Given the description of an element on the screen output the (x, y) to click on. 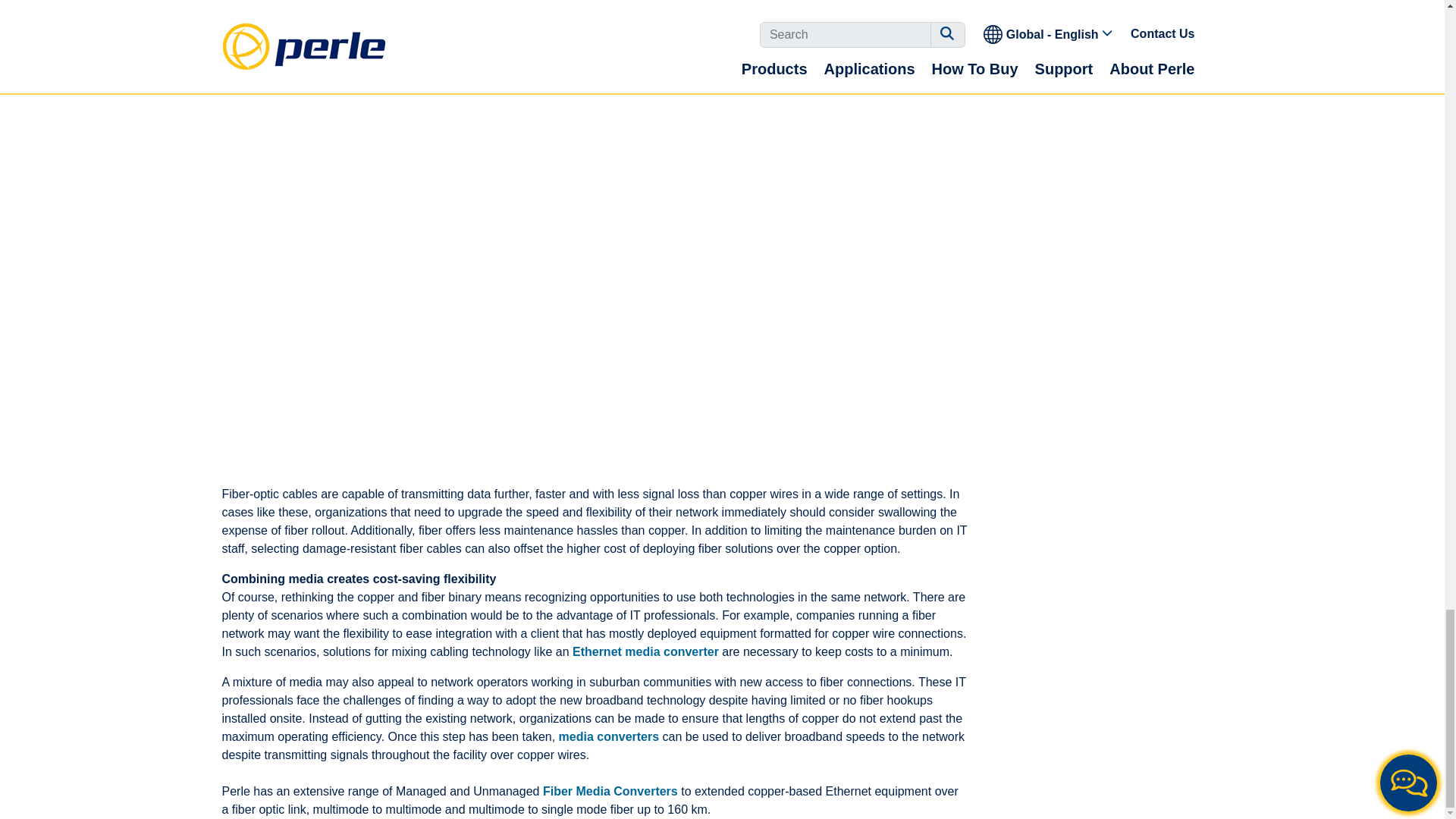
Fiber Media Converters (610, 790)
Ethernet media converter (645, 651)
media converters (609, 736)
